Given the description of an element on the screen output the (x, y) to click on. 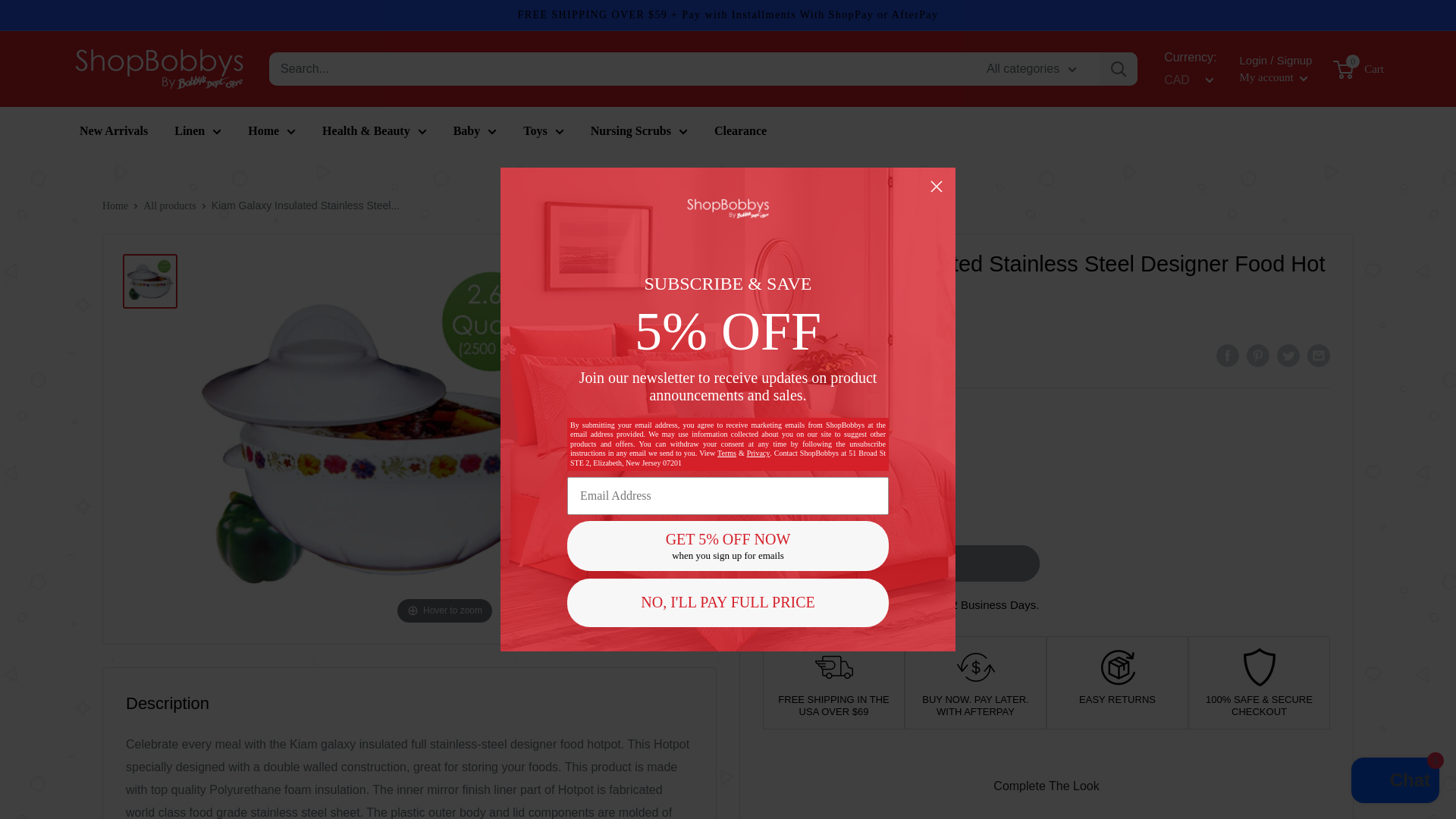
Shopify online store chat (1395, 781)
Currency (1186, 79)
